Given the description of an element on the screen output the (x, y) to click on. 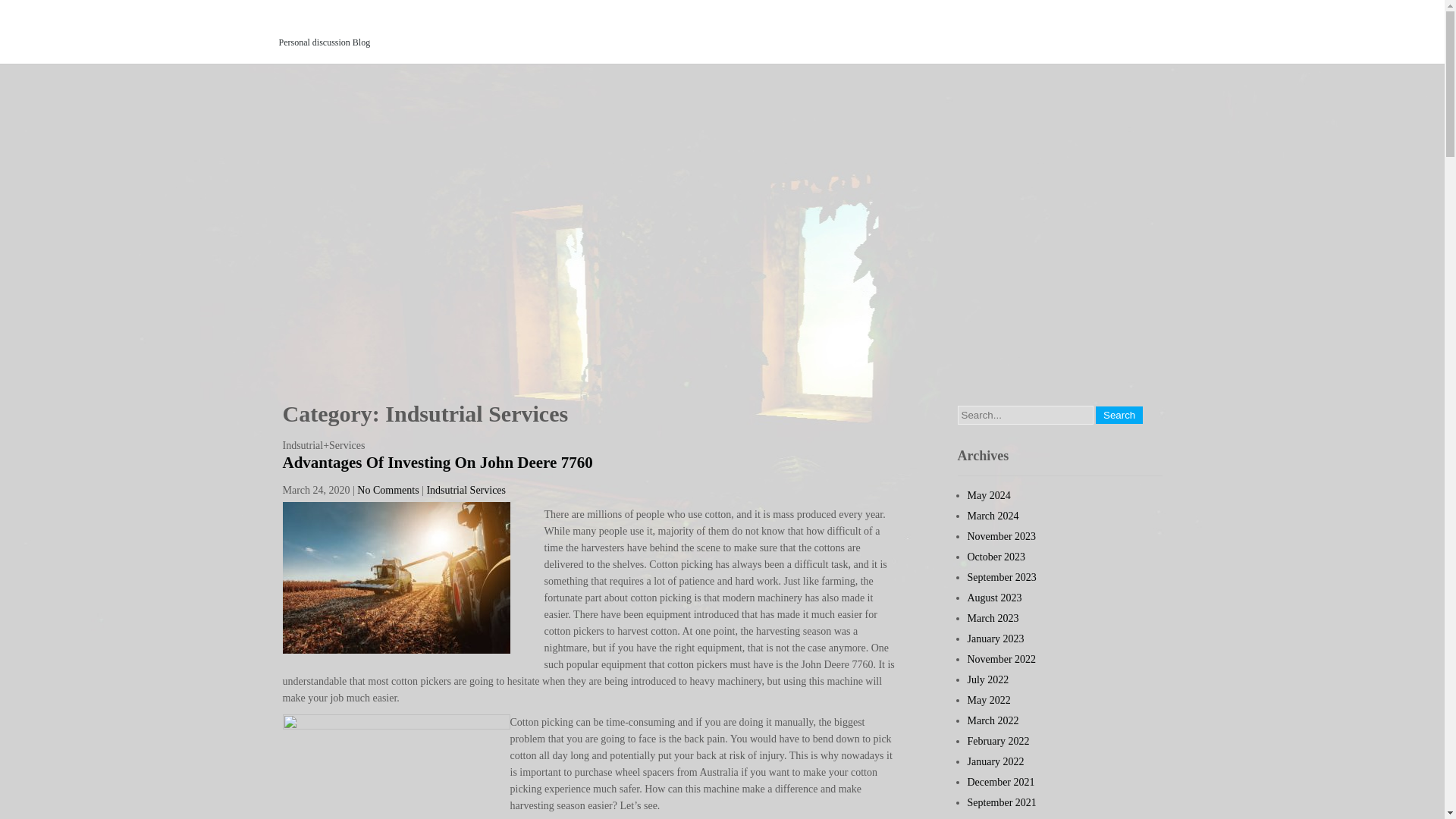
SAMMIE-S (327, 23)
Search (1119, 415)
Search (1119, 415)
Advantages Of Investing On John Deere 7760 (437, 462)
No Comments (387, 490)
Indsutrial Services (465, 490)
gettyimages-875961540-612x612.jpg (395, 766)
